Given the description of an element on the screen output the (x, y) to click on. 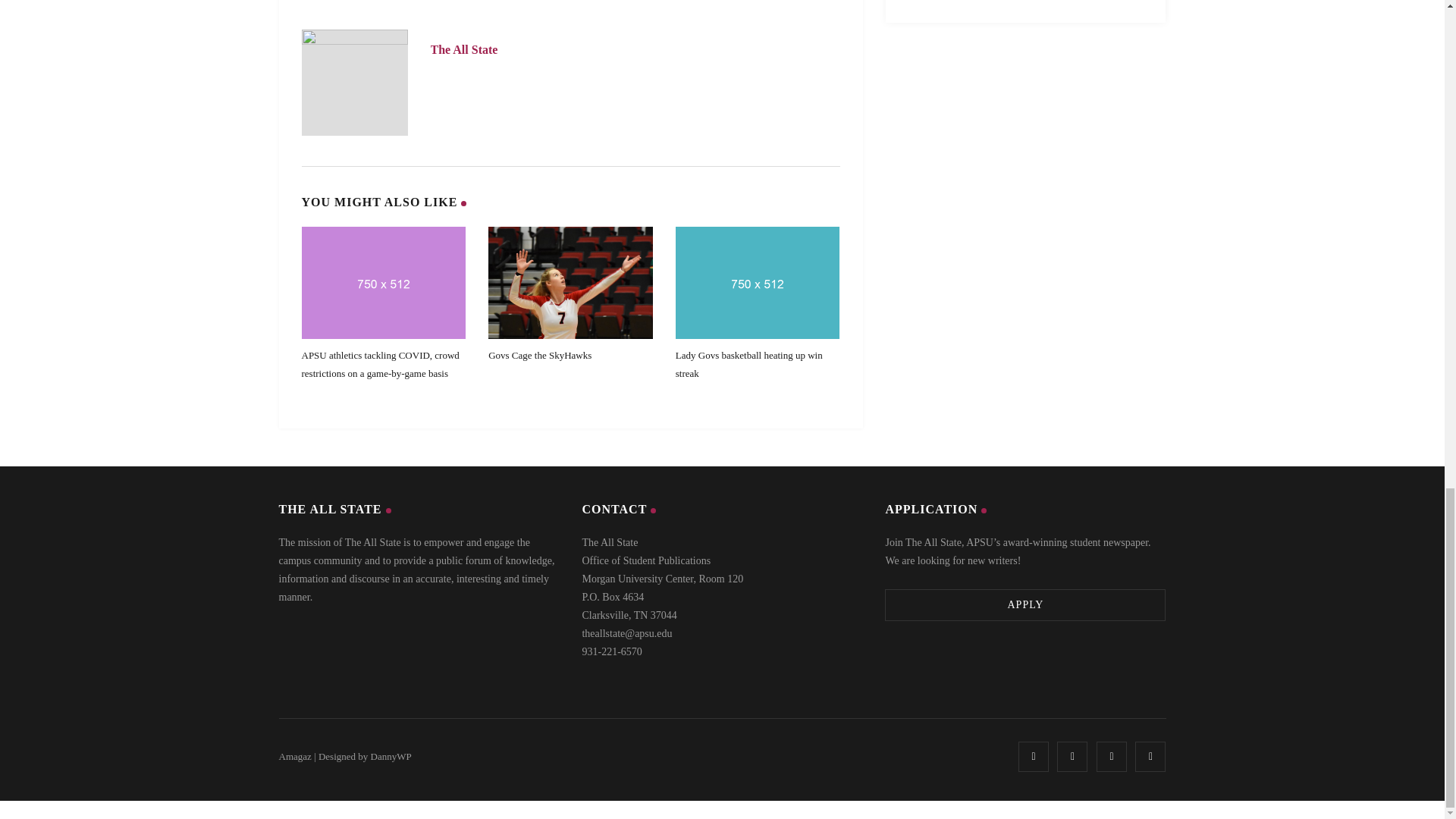
The All State (463, 49)
